Given the description of an element on the screen output the (x, y) to click on. 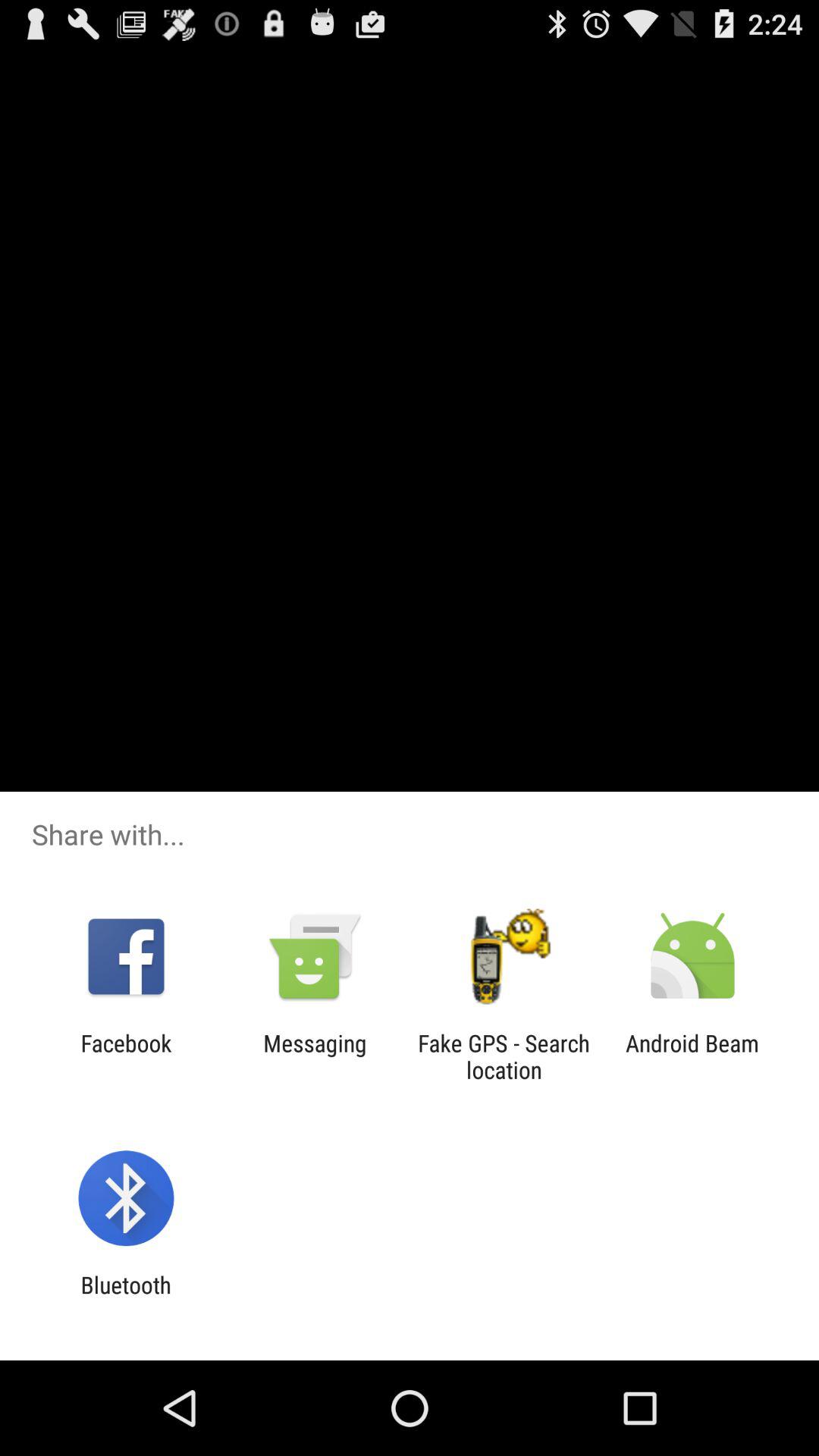
scroll to facebook (125, 1056)
